Given the description of an element on the screen output the (x, y) to click on. 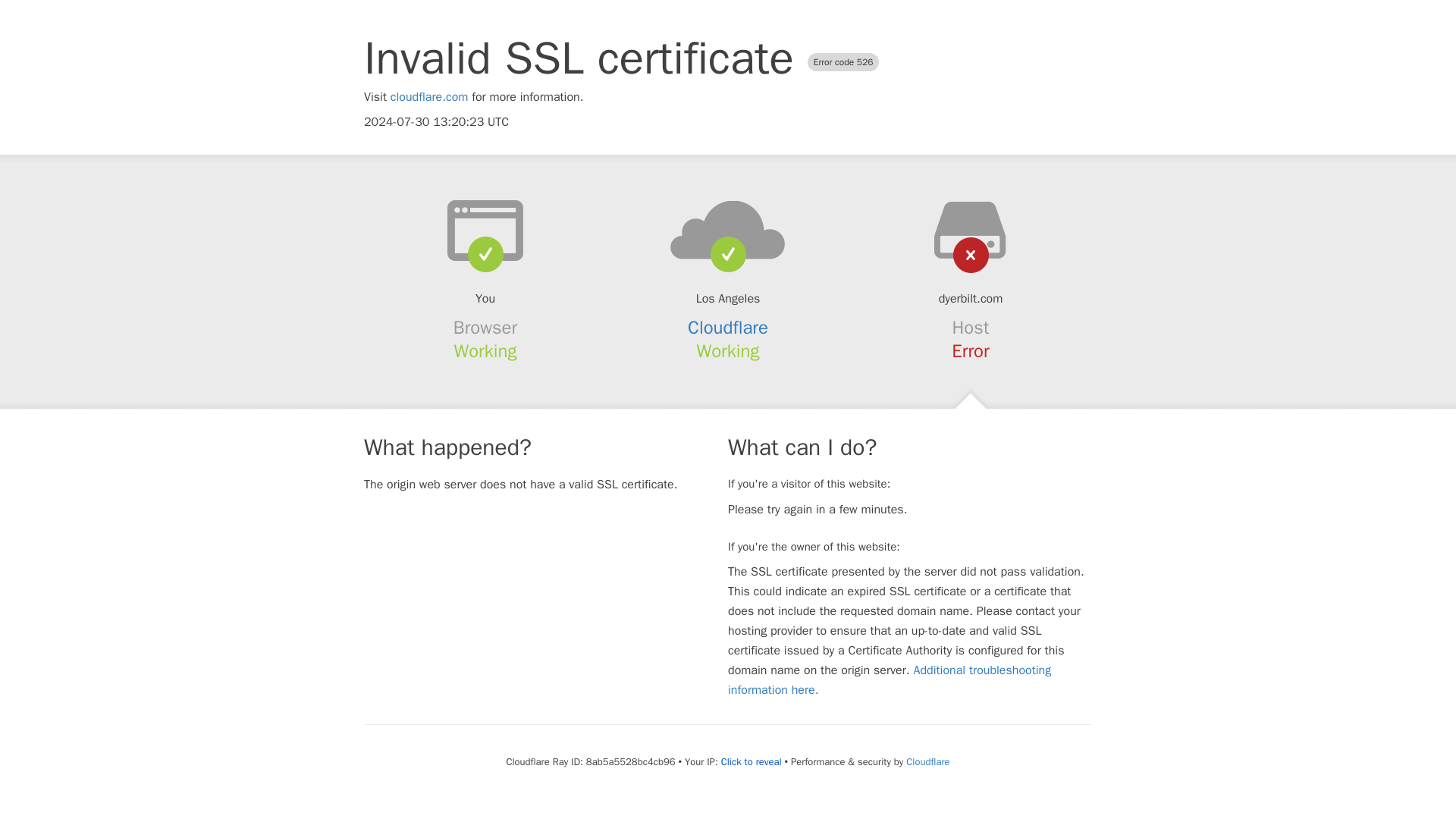
Cloudflare (727, 327)
Additional troubleshooting information here. (889, 679)
Cloudflare (927, 761)
cloudflare.com (429, 96)
Click to reveal (750, 762)
